Given the description of an element on the screen output the (x, y) to click on. 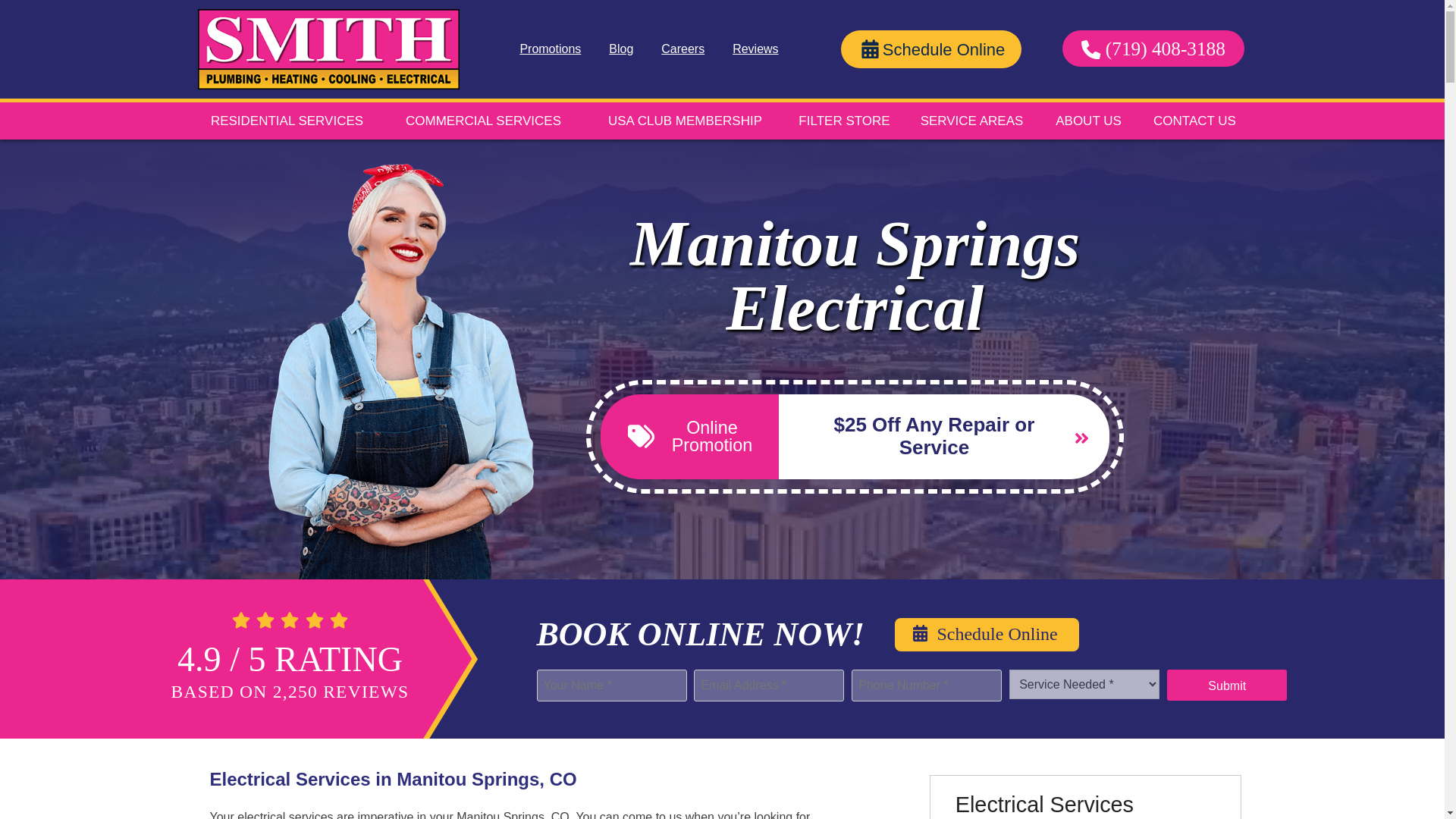
Careers (682, 48)
Schedule Online (931, 49)
Promotions (549, 48)
Submit (1227, 685)
Reviews (754, 48)
Blog (620, 48)
RESIDENTIAL SERVICES (285, 120)
